Given the description of an element on the screen output the (x, y) to click on. 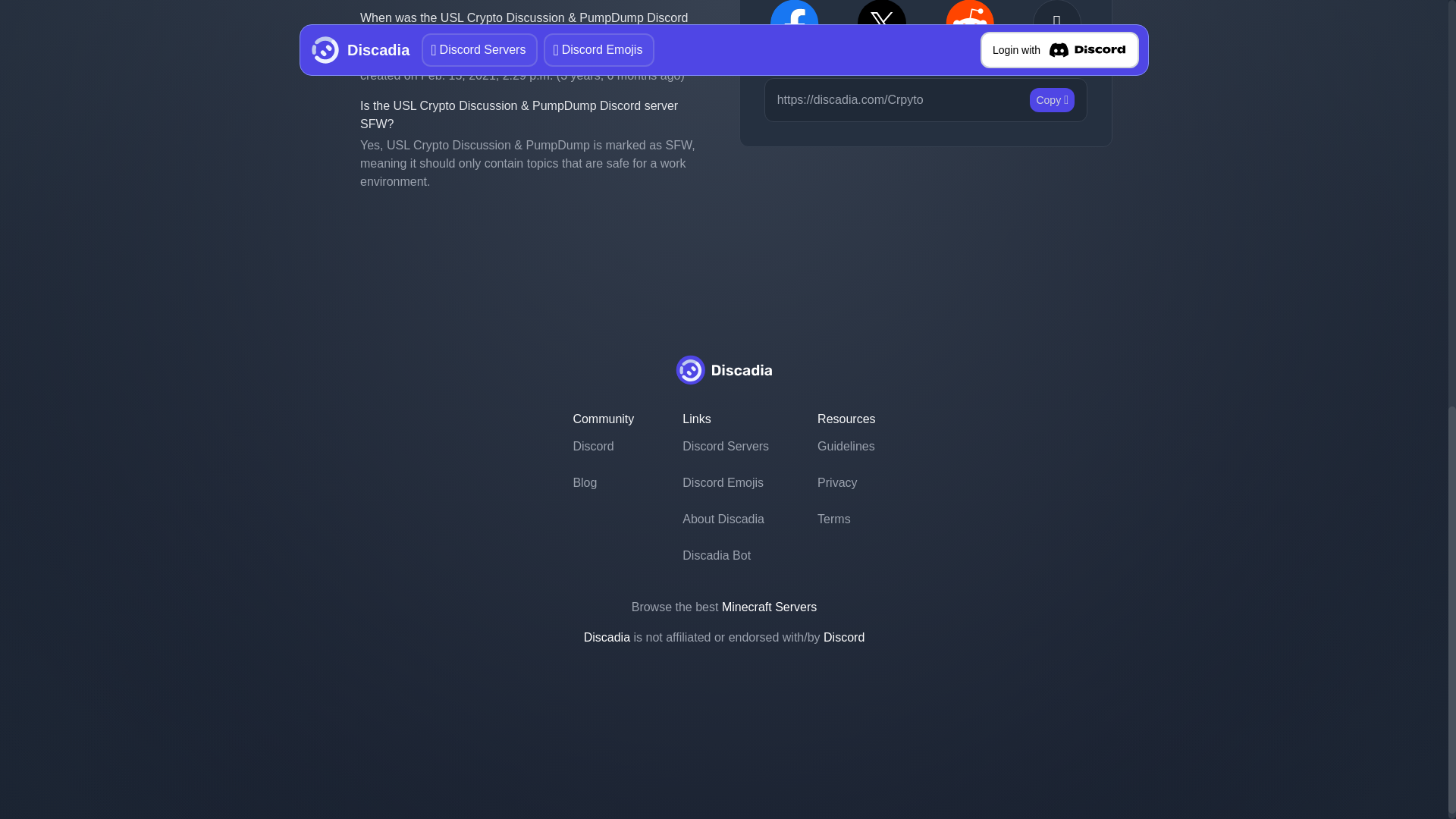
Discadia Bot (725, 555)
Terms (845, 519)
Discord (844, 636)
Blog (602, 483)
Minecraft Servers (769, 606)
Discadia (606, 636)
Discord Emojis (725, 483)
Discord Servers (725, 446)
Discord (602, 446)
About Discadia (725, 519)
